Given the description of an element on the screen output the (x, y) to click on. 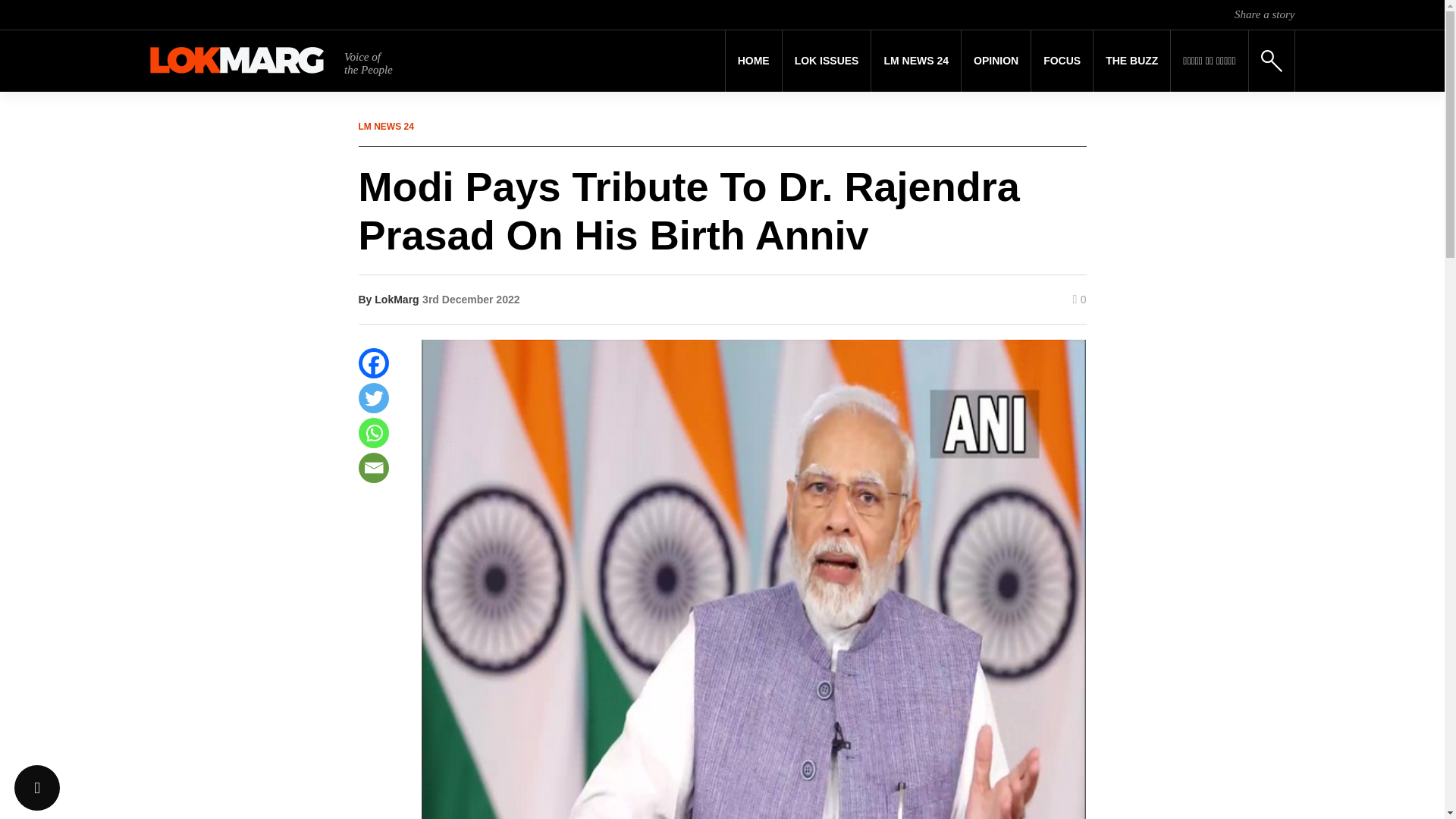
LM NEWS 24 (915, 60)
Home (753, 60)
LM News 24 (915, 60)
FOCUS (1061, 60)
Facebook (373, 363)
THE BUZZ (1131, 60)
Lok Issues (826, 60)
LokMarg (396, 299)
HOME (753, 60)
OPINION (995, 60)
